Given the description of an element on the screen output the (x, y) to click on. 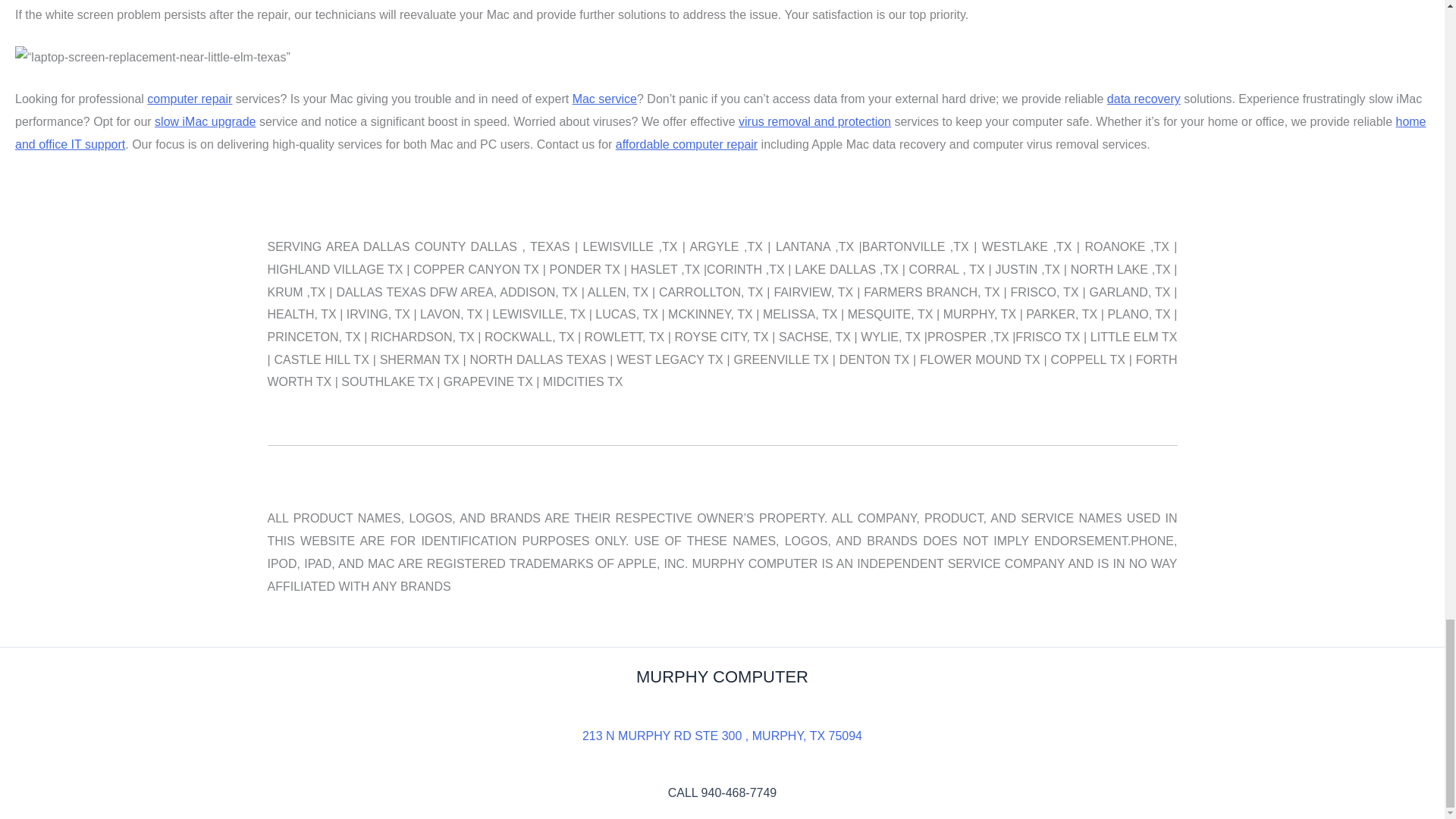
data recovery (1143, 98)
213 N MURPHY RD STE 300 , MURPHY, TX 75094 (721, 735)
affordable computer repair (686, 144)
virus removal and protection (814, 121)
home and office IT support (720, 132)
slow iMac upgrade (205, 121)
Mac service (604, 98)
computer repair (189, 98)
